Given the description of an element on the screen output the (x, y) to click on. 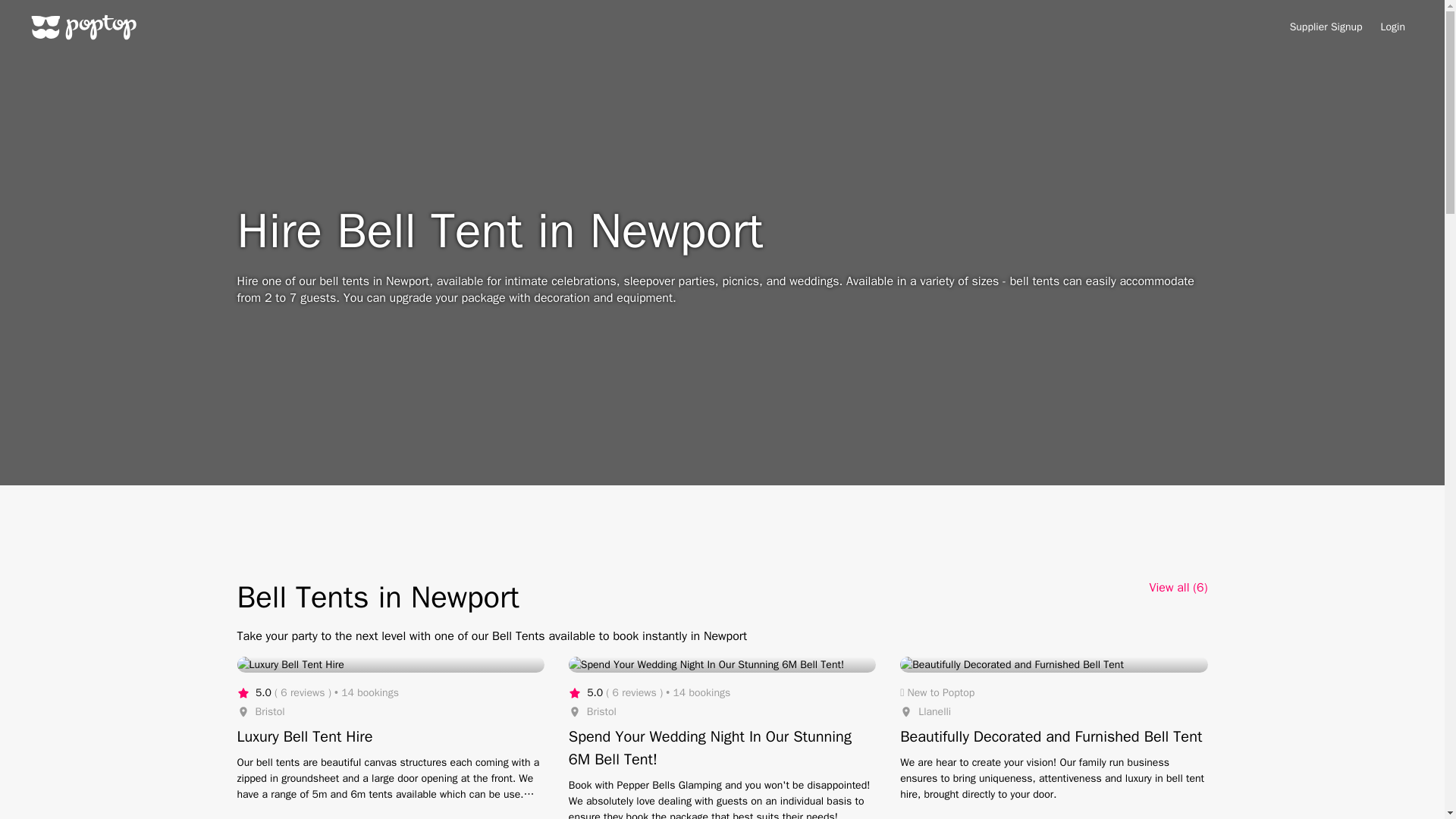
Supplier Signup (1326, 26)
Login (1392, 26)
